Given the description of an element on the screen output the (x, y) to click on. 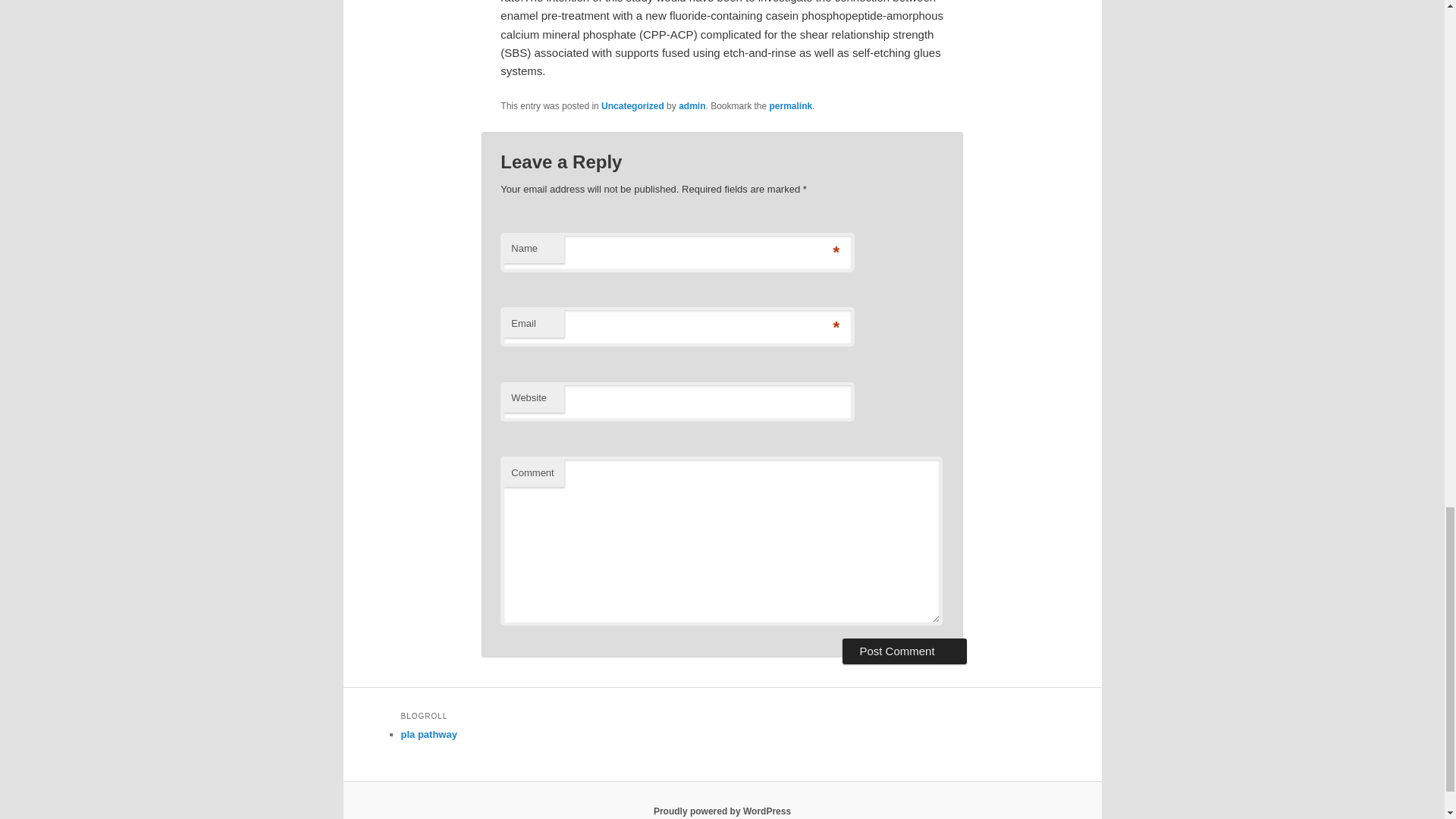
admin (691, 105)
Post Comment (904, 651)
Semantic Personal Publishing Platform (721, 810)
Proudly powered by WordPress (721, 810)
View all posts in Uncategorized (632, 105)
permalink (791, 105)
pla pathway (428, 734)
Post Comment (904, 651)
Uncategorized (632, 105)
